Given the description of an element on the screen output the (x, y) to click on. 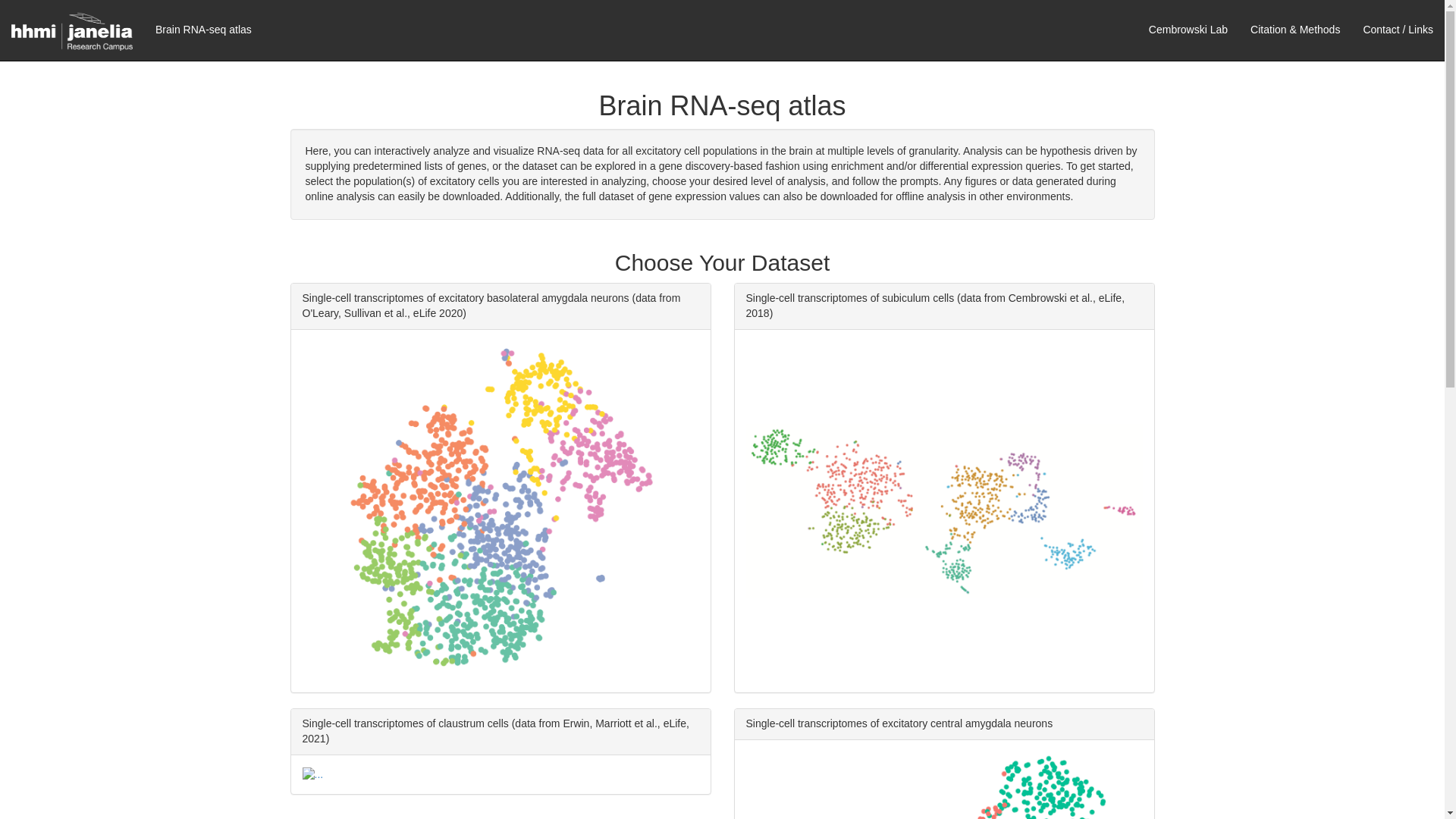
Cembrowski Lab (1188, 29)
Brain RNA-seq atlas (203, 29)
